Given the description of an element on the screen output the (x, y) to click on. 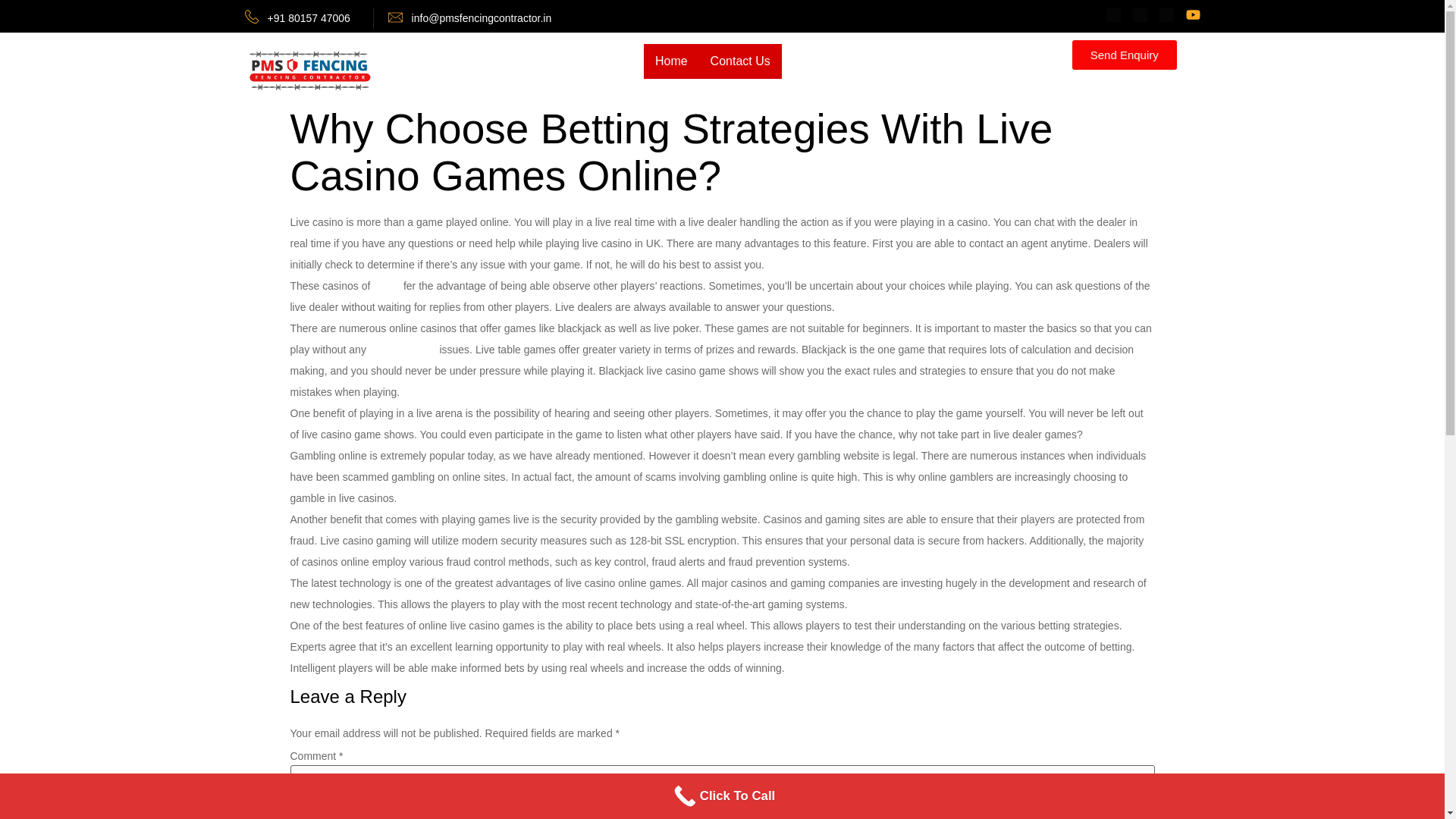
Home (670, 61)
Bet888 casino (402, 349)
Cristal (387, 285)
Contact Us (739, 61)
Send Enquiry (1123, 54)
